Given the description of an element on the screen output the (x, y) to click on. 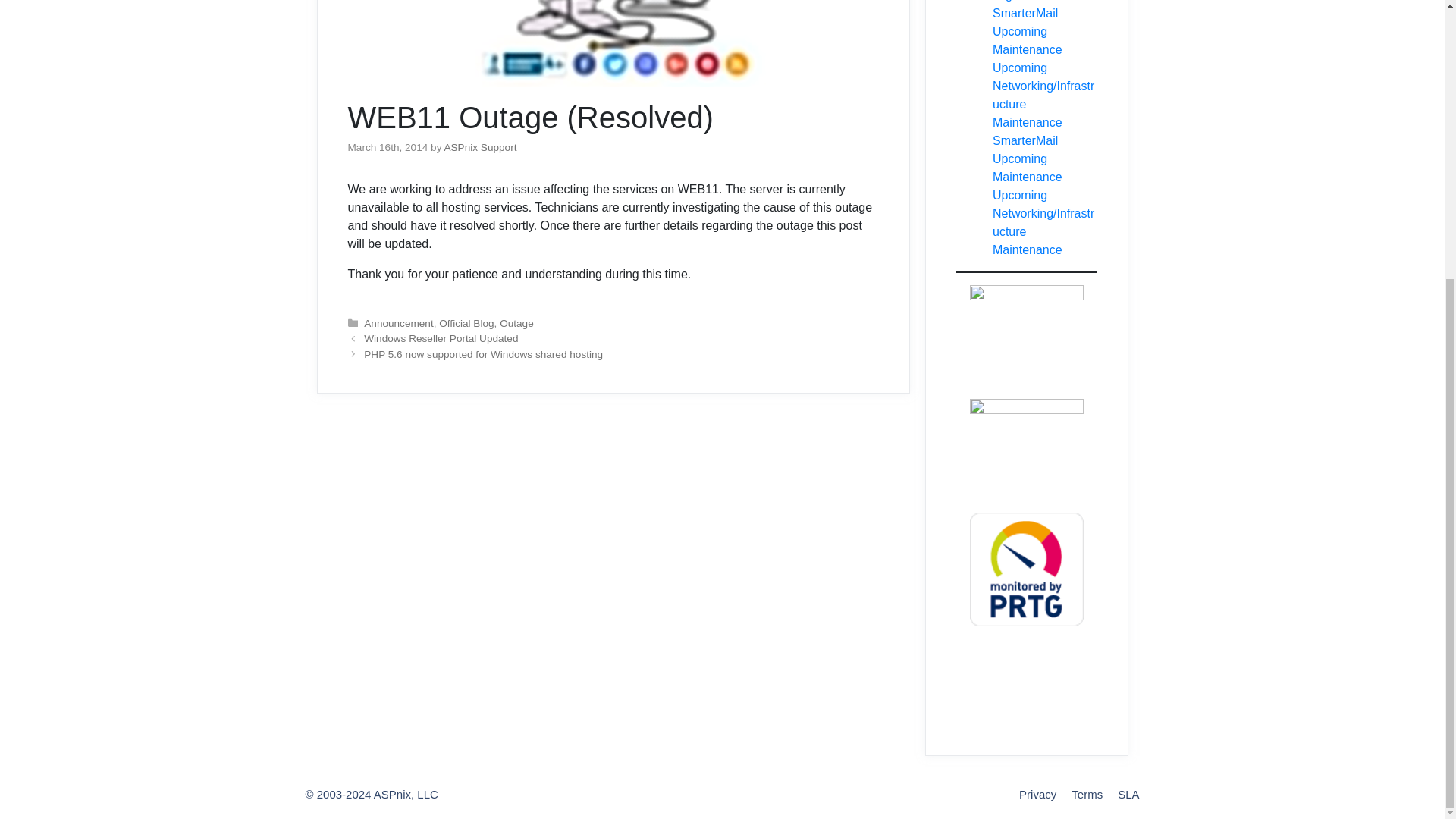
Outage (516, 323)
SmarterMail Upcoming Maintenance (1027, 158)
Announcement (398, 323)
PHP 5.6 now supported for Windows shared hosting (483, 354)
Windows Reseller Portal Updated (441, 337)
Official Blog (466, 323)
ASPnix Support (480, 147)
SmarterMail Upcoming Maintenance (1027, 31)
